Given the description of an element on the screen output the (x, y) to click on. 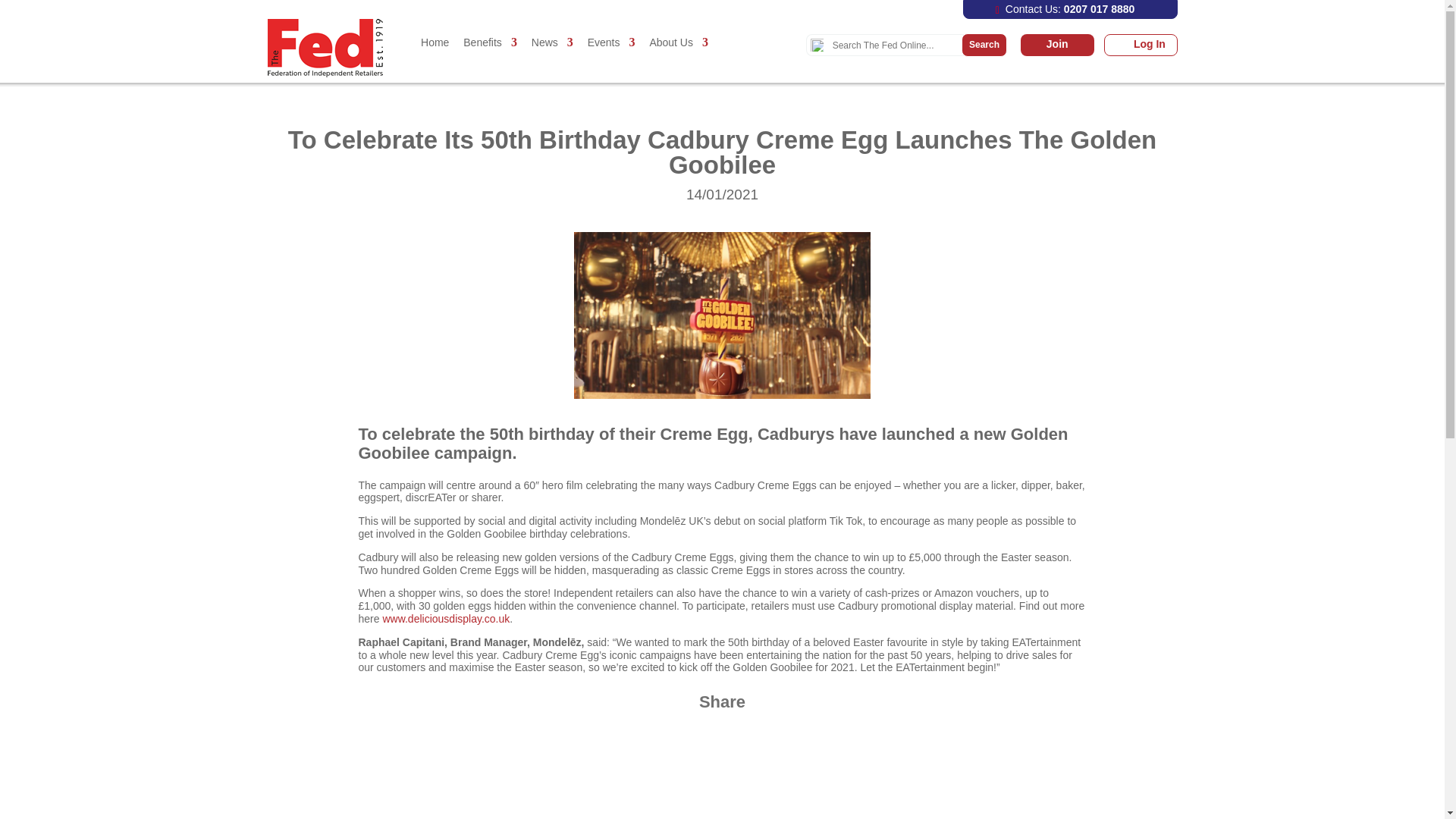
0207 017 8880 (1099, 9)
Search (894, 45)
Benefits (489, 57)
